Given the description of an element on the screen output the (x, y) to click on. 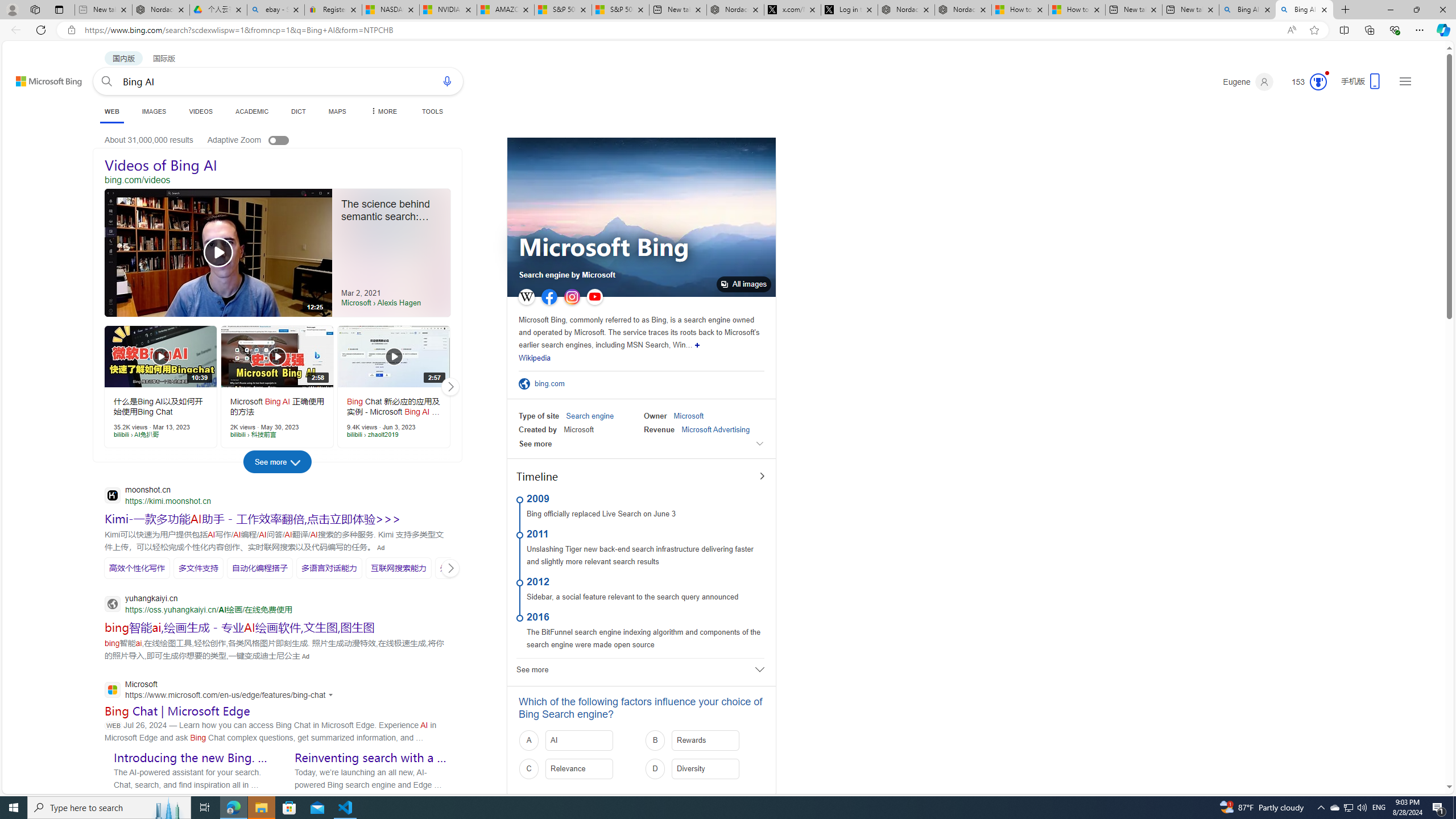
Adaptive Zoom (259, 139)
Search more (1423, 753)
TOOLS (431, 111)
SERP,5716 (259, 567)
SERP,5715 (198, 568)
Created by (537, 429)
SERP,5711 (252, 518)
Microsoft Rewards 153 (1304, 81)
MAPS (336, 111)
